Given the description of an element on the screen output the (x, y) to click on. 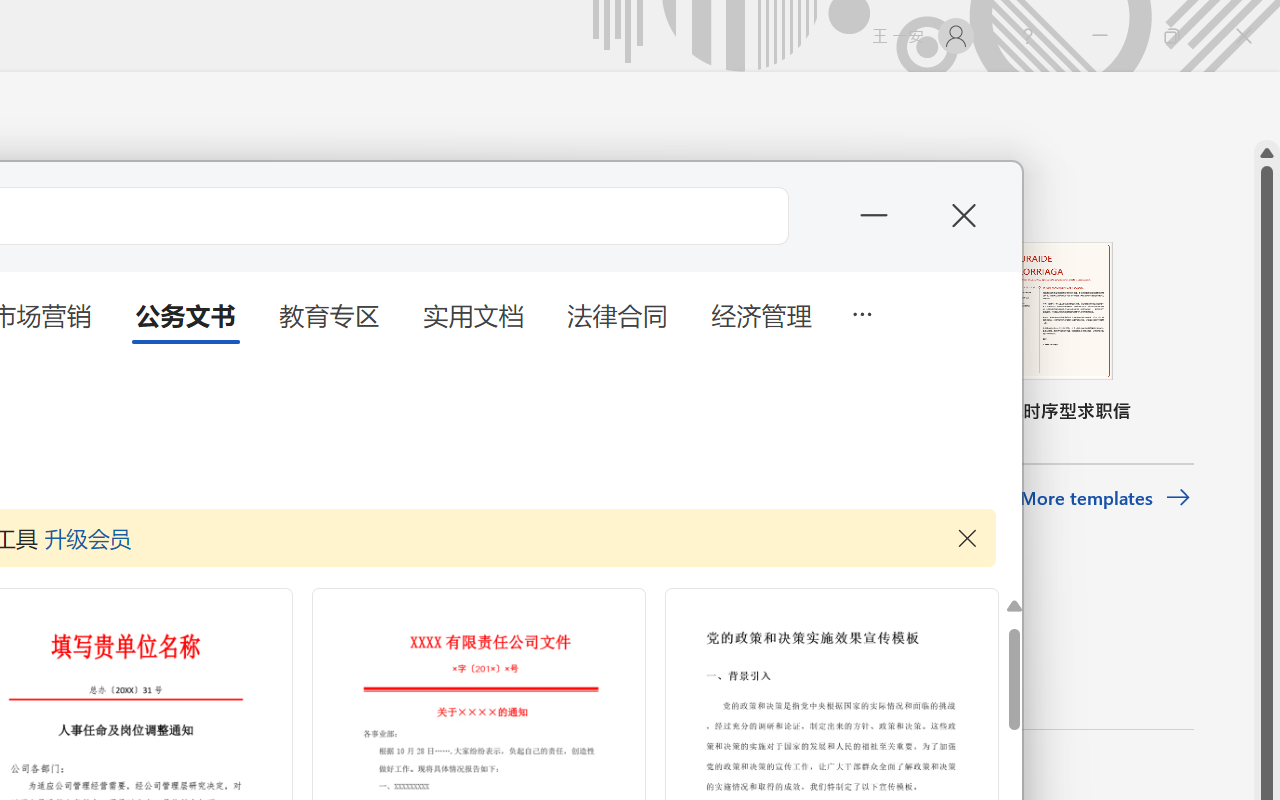
Minimize (1099, 36)
Class: NetUIScrollBar (1267, 106)
Help (1027, 36)
5 more tabs (861, 312)
Line up (1267, 153)
Restore Down (1172, 36)
